Given the description of an element on the screen output the (x, y) to click on. 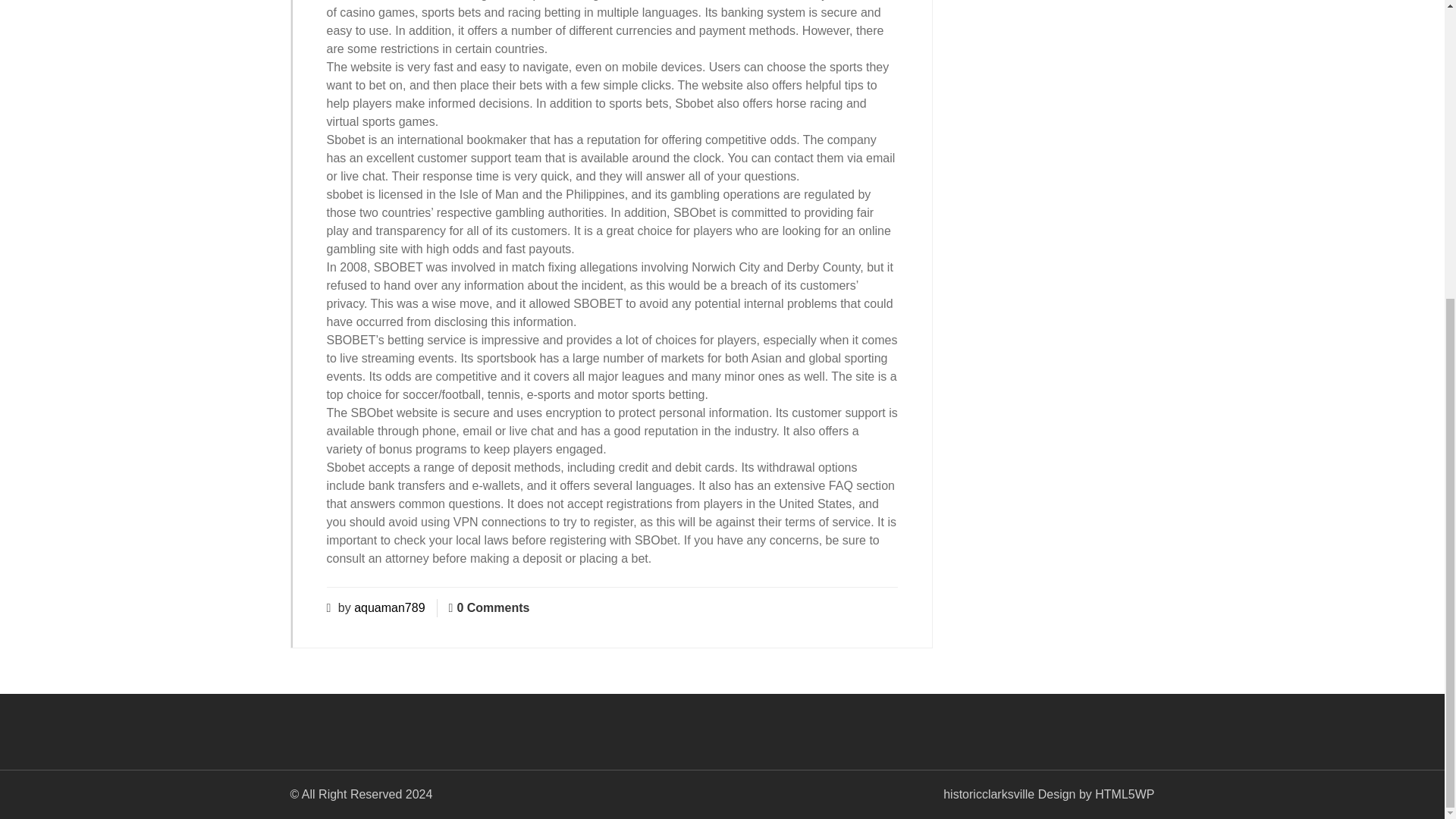
HTML5WP (1124, 793)
aquaman789 (389, 607)
